Given the description of an element on the screen output the (x, y) to click on. 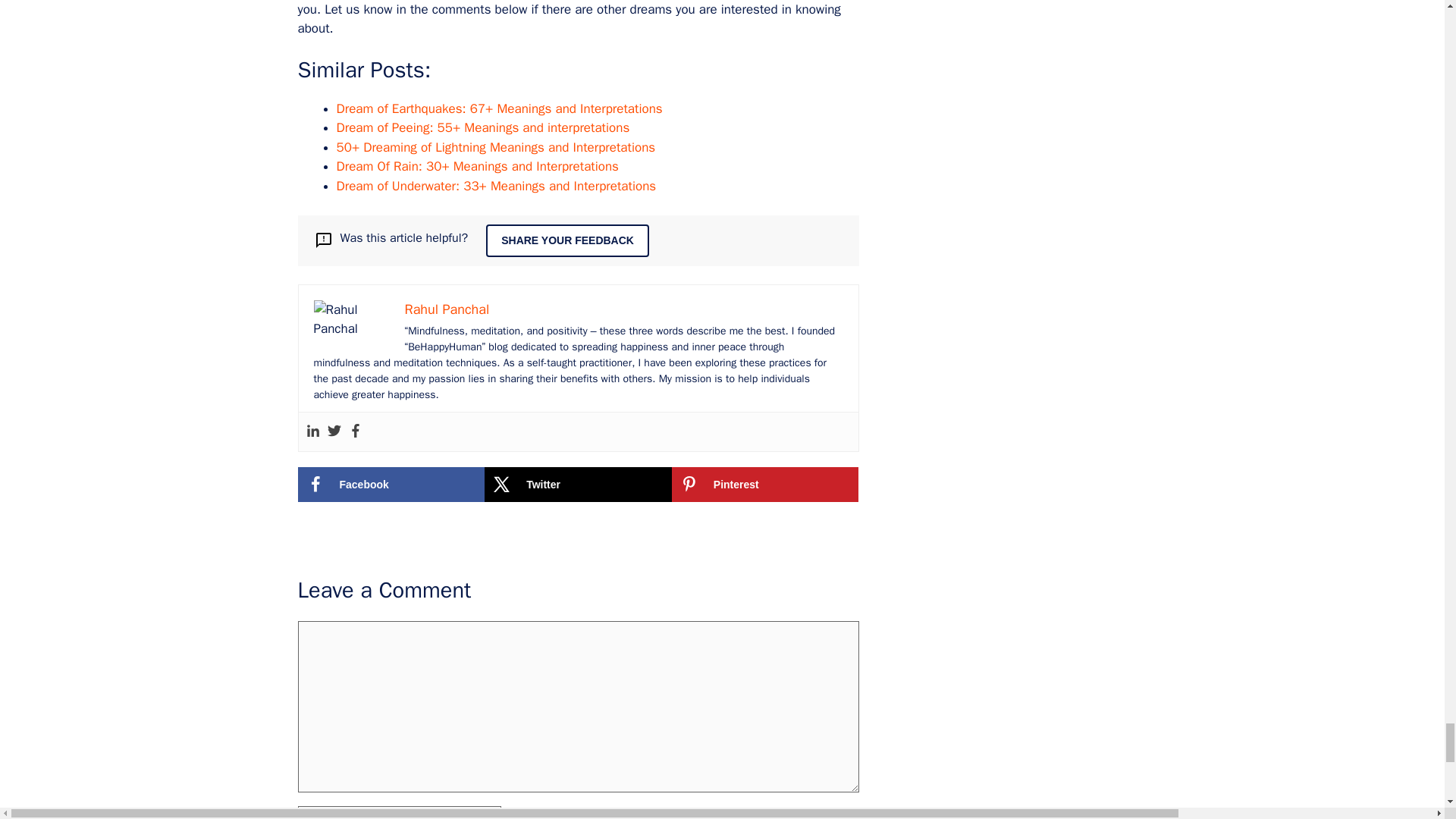
Twitter (577, 484)
SHARE YOUR FEEDBACK (567, 240)
Share on Facebook (390, 484)
Rahul Panchal (446, 309)
Pinterest (765, 484)
Facebook (390, 484)
